Given the description of an element on the screen output the (x, y) to click on. 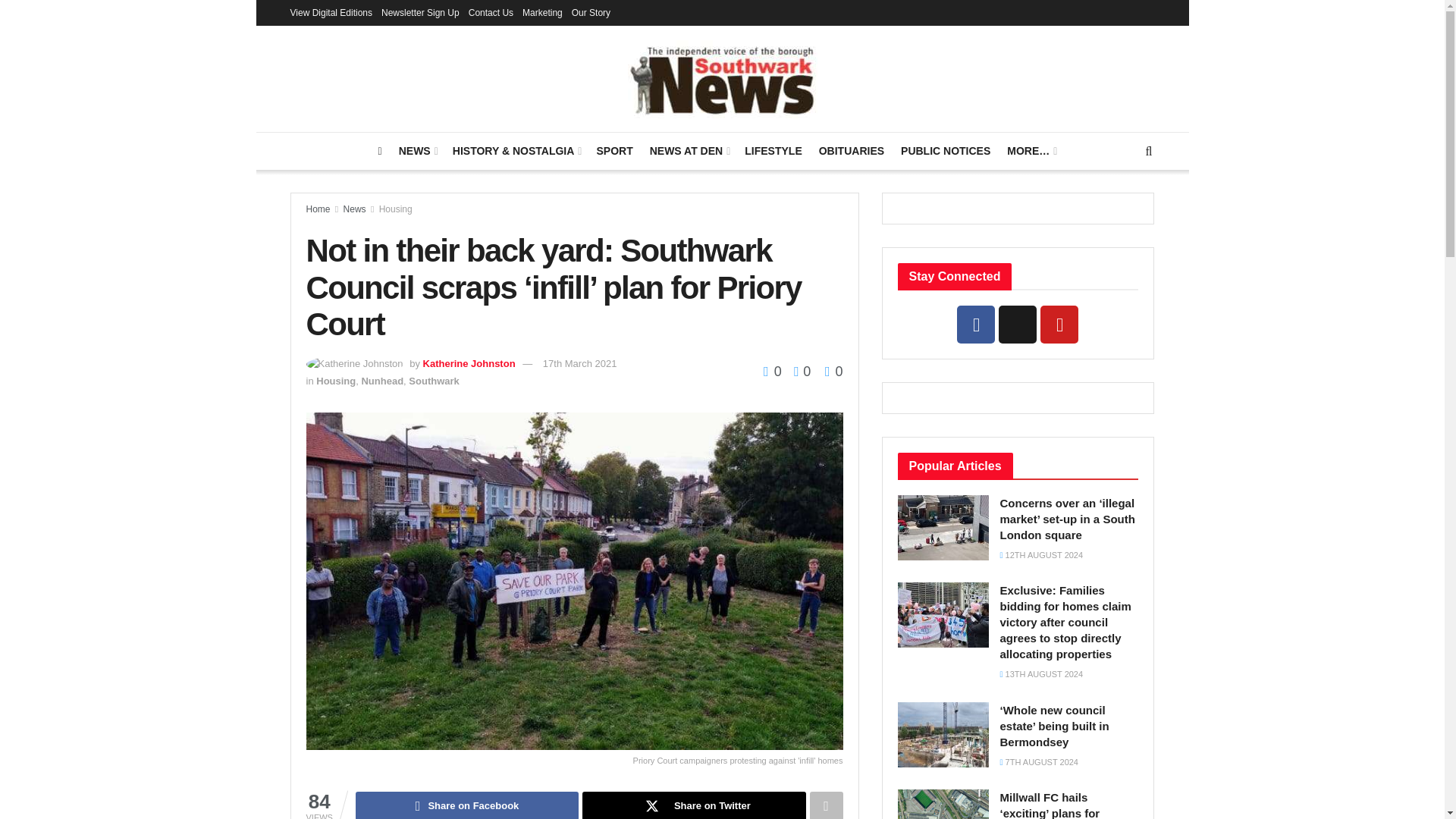
Newsletter Sign Up (420, 12)
Our Story (591, 12)
SPORT (613, 150)
Contact Us (490, 12)
NEWS AT DEN (689, 150)
NEWS (416, 150)
Marketing (542, 12)
View Digital Editions (330, 12)
